Given the description of an element on the screen output the (x, y) to click on. 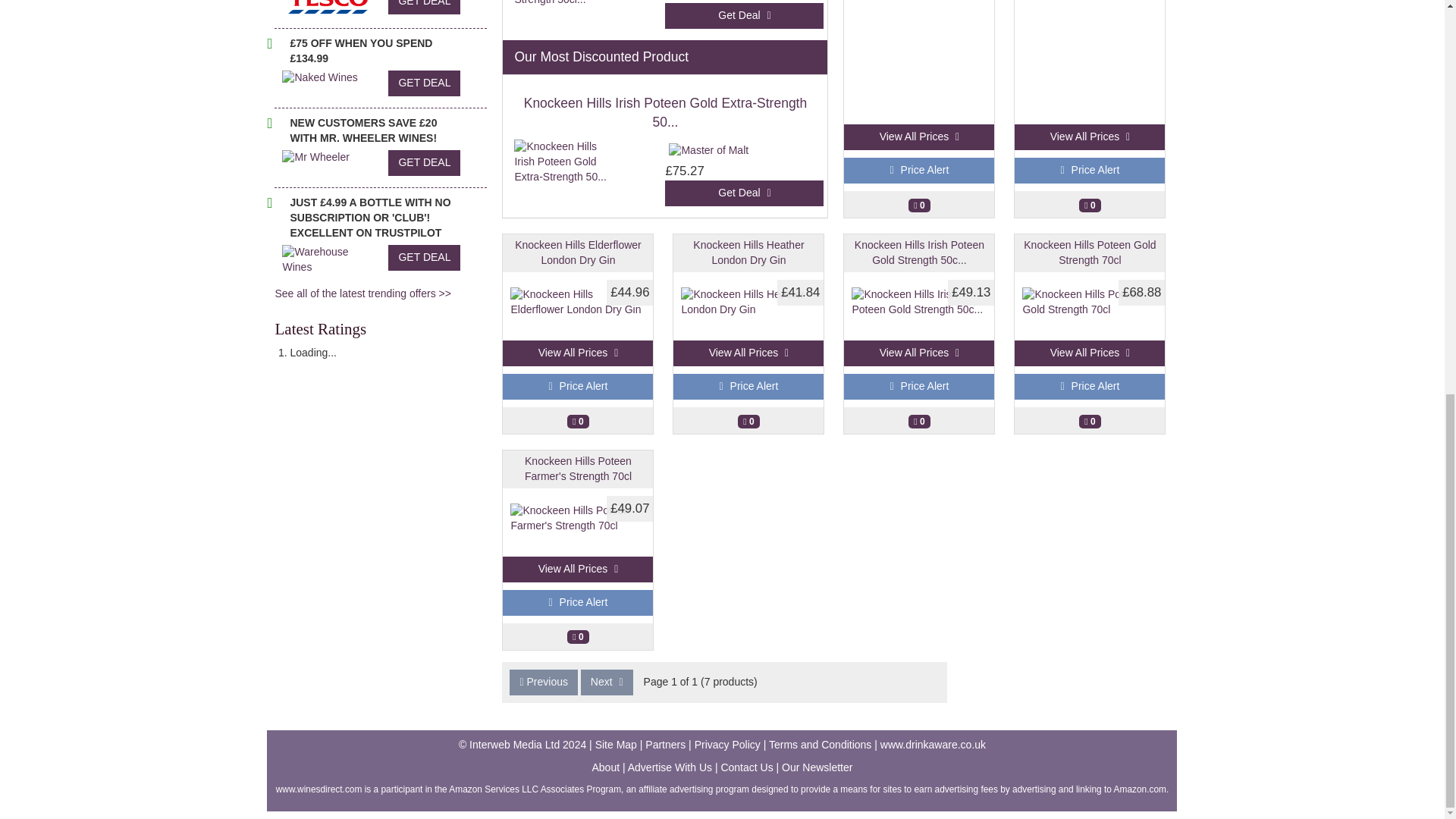
Get Deal (744, 15)
Knockeen Hills Irish Poteen Gold Extra-Strength 50... (666, 112)
